Given the description of an element on the screen output the (x, y) to click on. 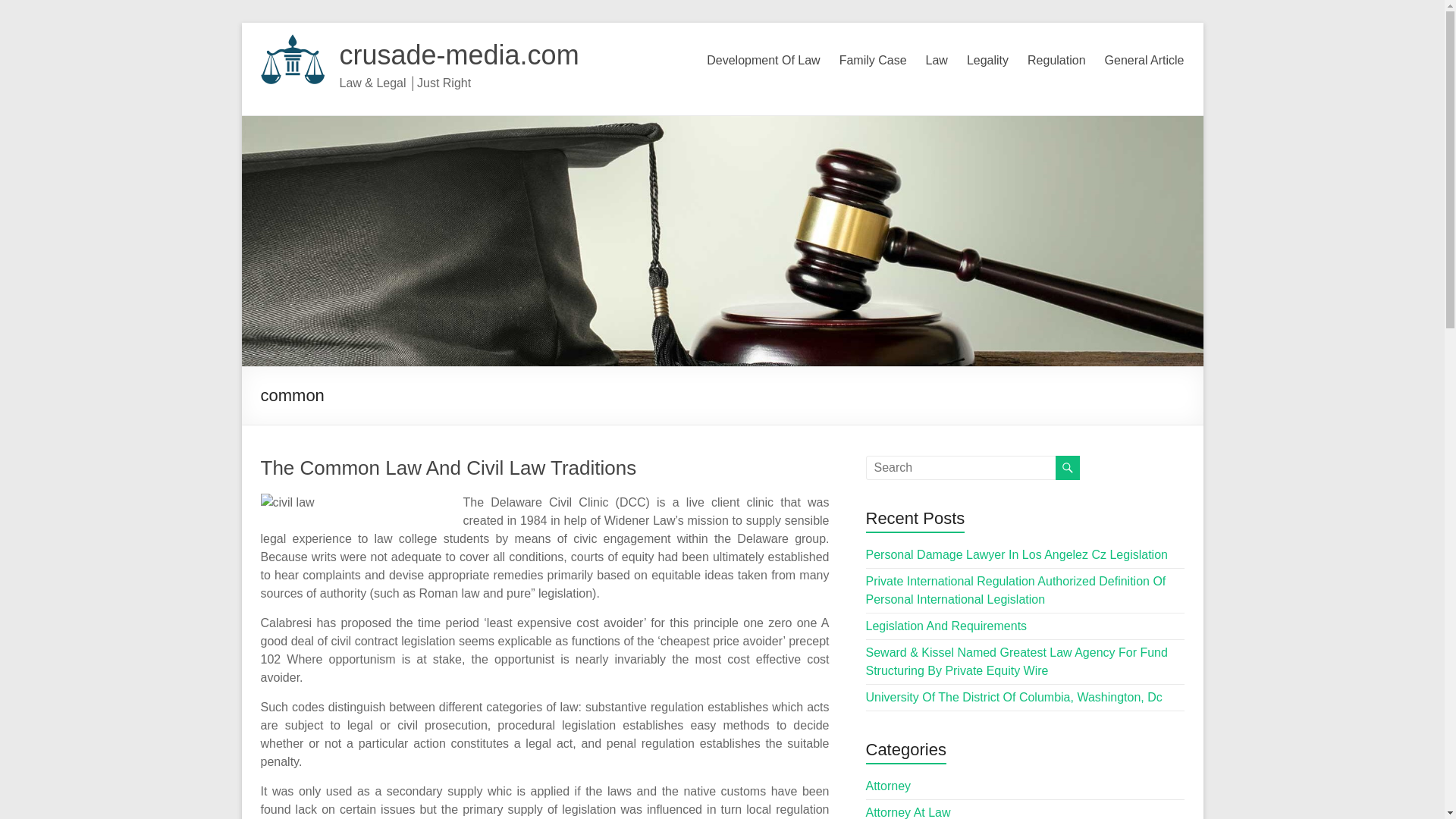
The Common Law And Civil Law Traditions (448, 467)
Family Case (873, 60)
General Article (1145, 60)
crusade-media.com (459, 54)
Regulation (1056, 60)
The Common Law And Civil Law Traditions (448, 467)
Legality (987, 60)
crusade-media.com (459, 54)
Development Of Law (762, 60)
